Given the description of an element on the screen output the (x, y) to click on. 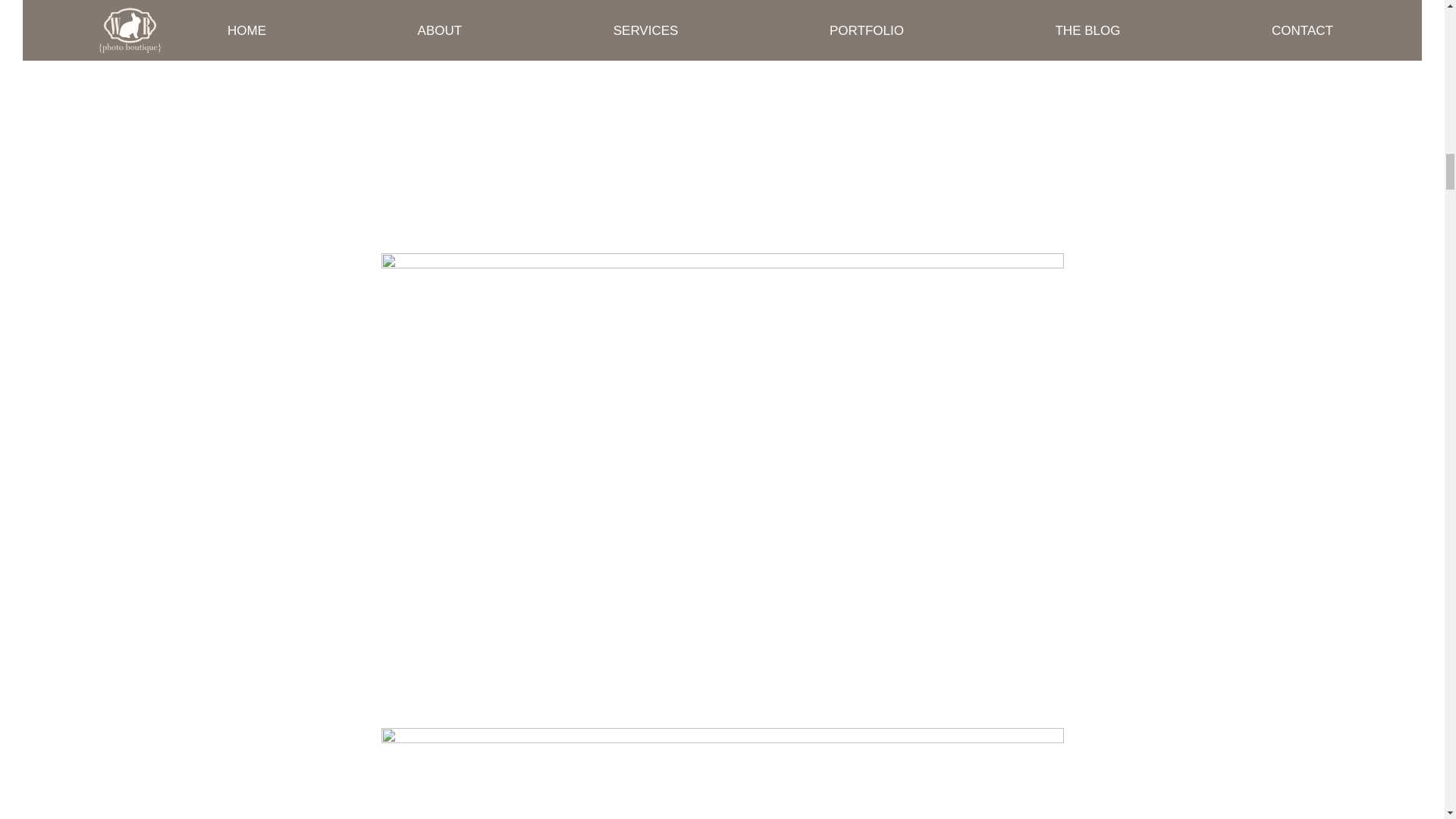
Nightmare Before Christmas Wedding (721, 773)
